Given the description of an element on the screen output the (x, y) to click on. 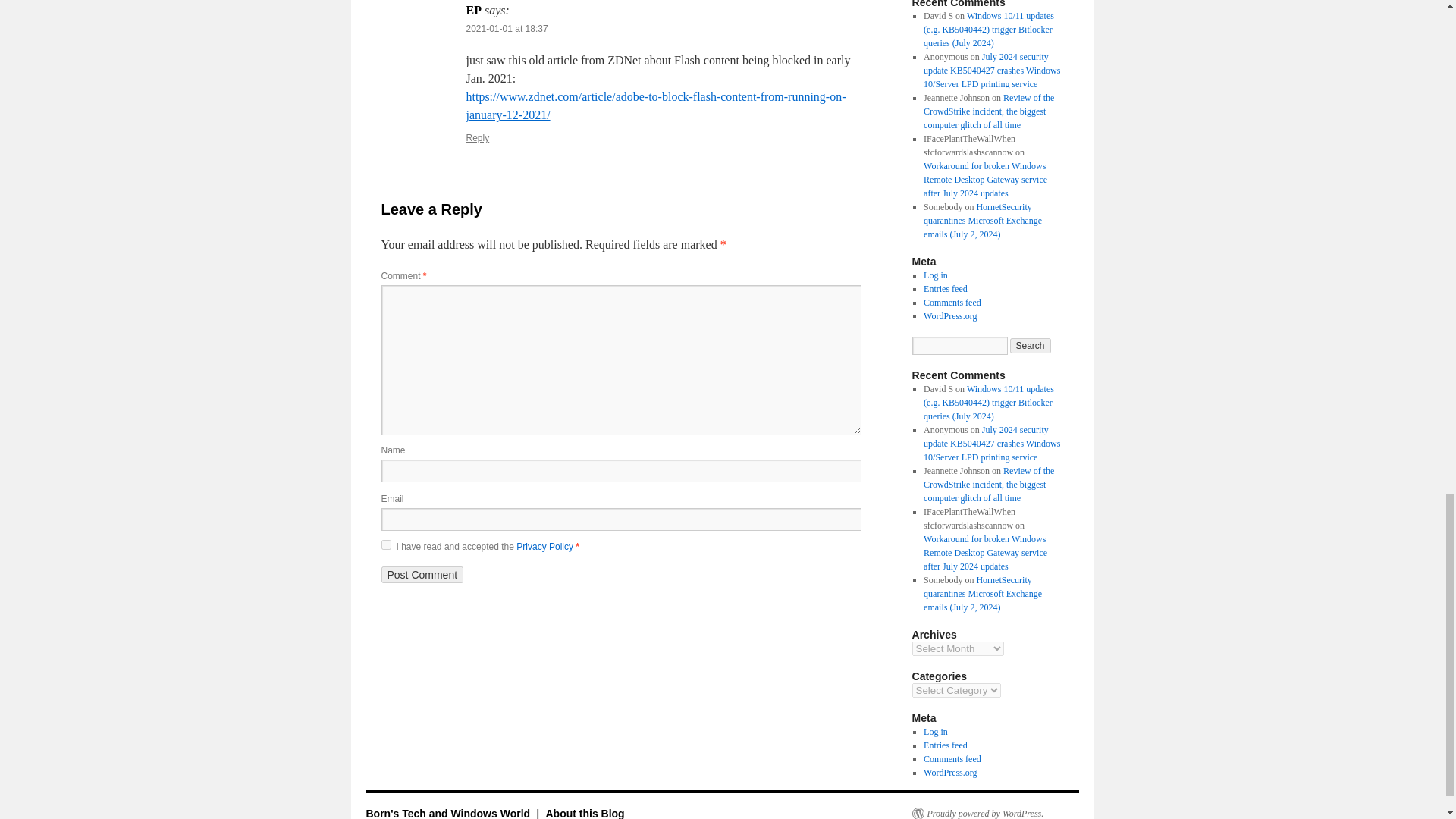
policy-key (385, 544)
Reply (477, 137)
Privacy Policy (545, 546)
Post Comment (421, 574)
Post Comment (421, 574)
2021-01-01 at 18:37 (506, 28)
Search (1030, 345)
